Given the description of an element on the screen output the (x, y) to click on. 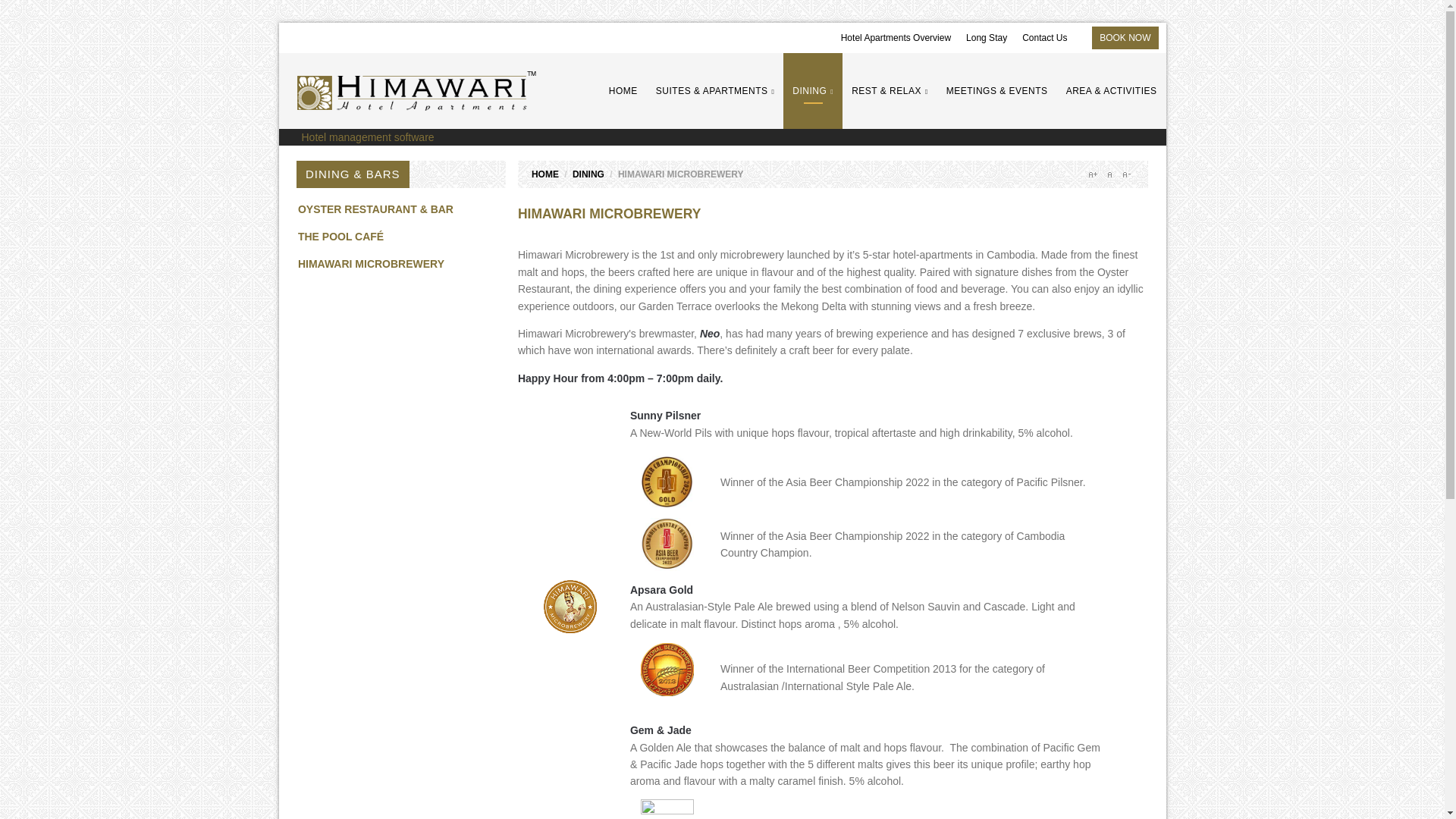
DINING (588, 173)
Hotel management software (367, 137)
BOOK NOW (1124, 37)
Himawari Hotel Apartments (415, 90)
HOME (545, 173)
HIMAWARI MICROBREWERY (609, 213)
Long Stay (986, 37)
Hotel Apartments Overview (895, 37)
A- (1126, 174)
Contact Us (1044, 37)
